Given the description of an element on the screen output the (x, y) to click on. 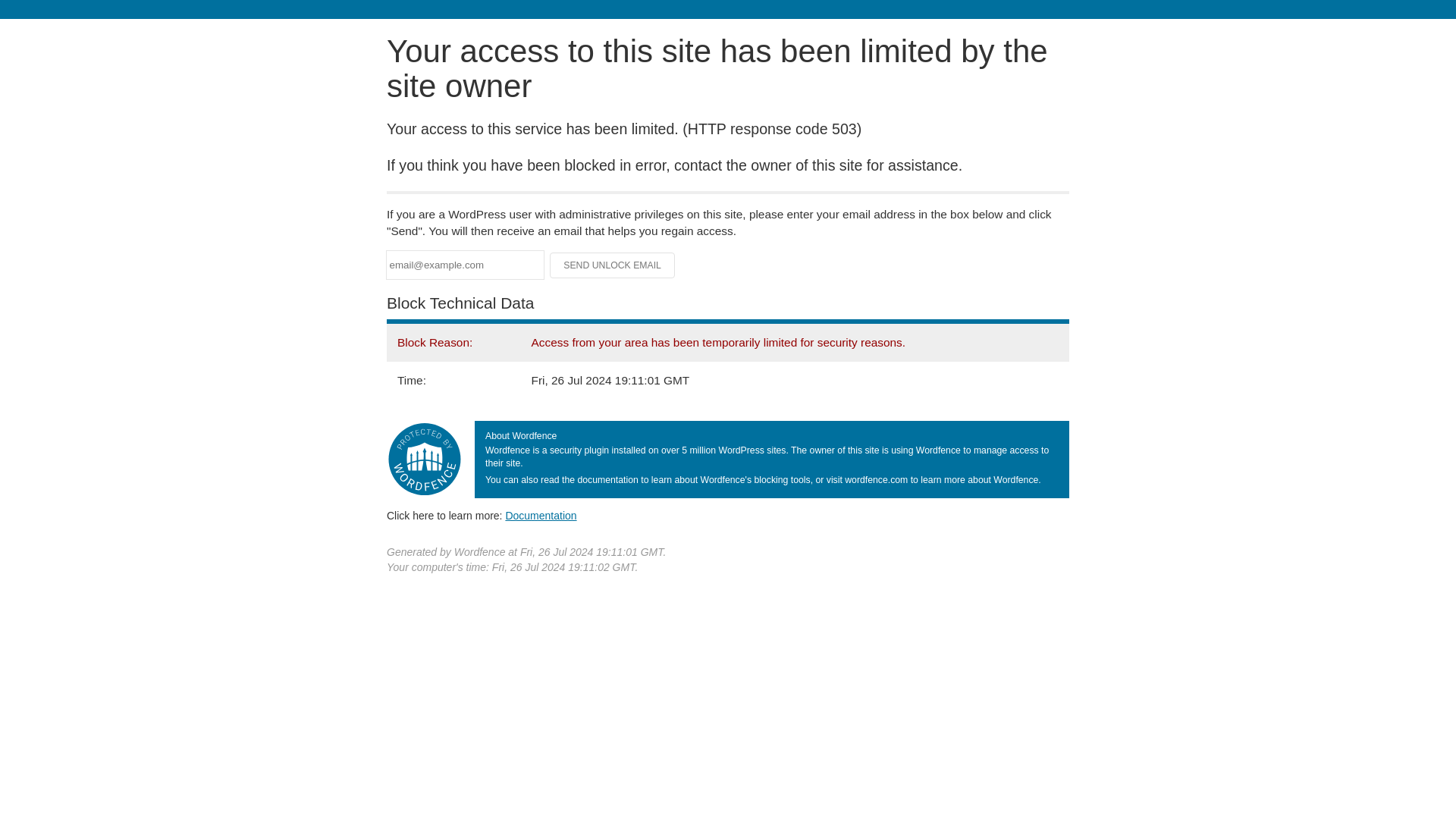
Documentation (540, 515)
Send Unlock Email (612, 265)
Send Unlock Email (612, 265)
